Given the description of an element on the screen output the (x, y) to click on. 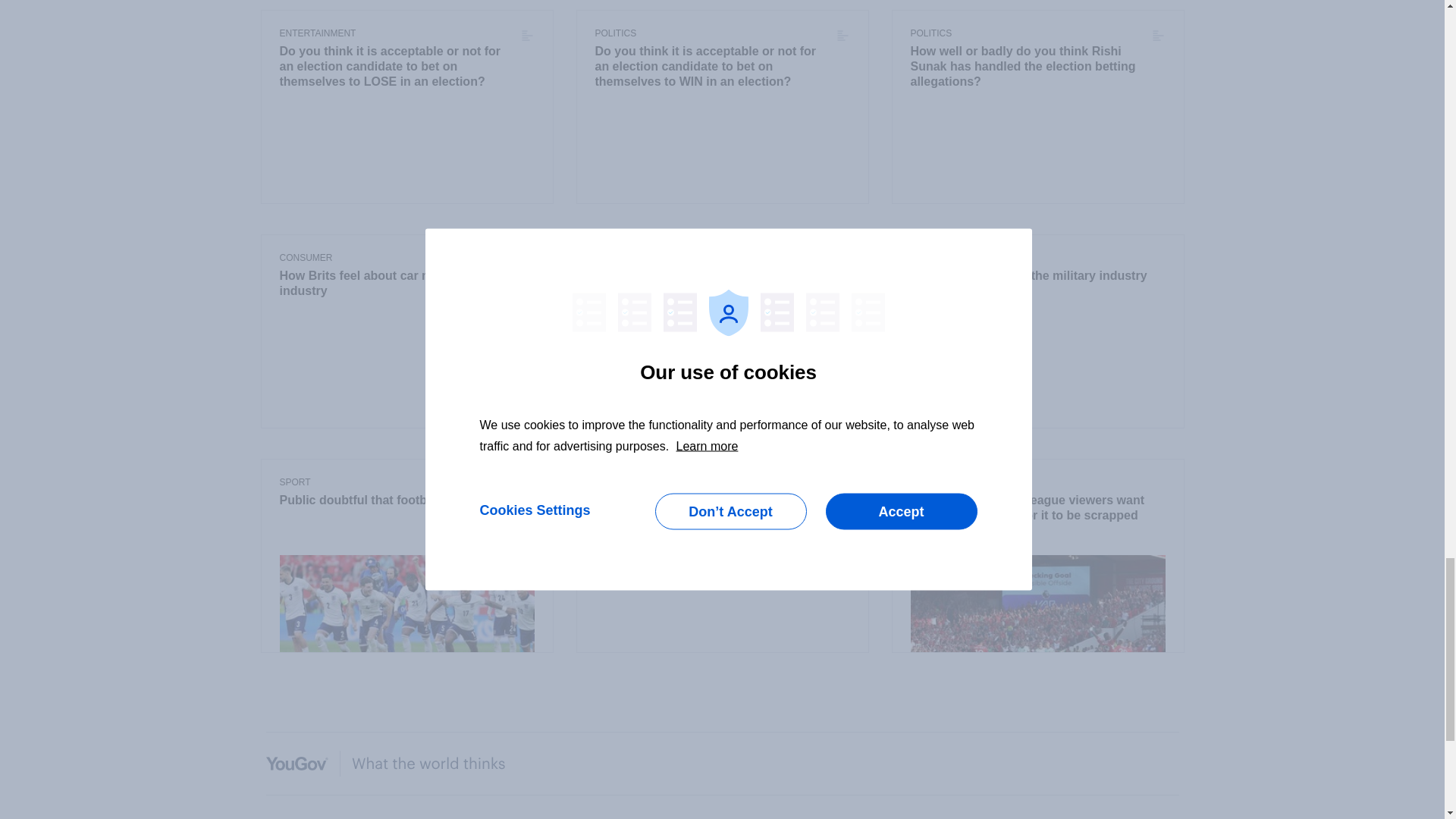
Public doubtful that football's coming home (406, 501)
How Brits feel about the military industry (1037, 276)
How Brits feel about the supermarket industry (721, 284)
How Brits feel about car manufacturering industry (406, 284)
Who will Wales support at the 2024 Euros? (721, 501)
